Given the description of an element on the screen output the (x, y) to click on. 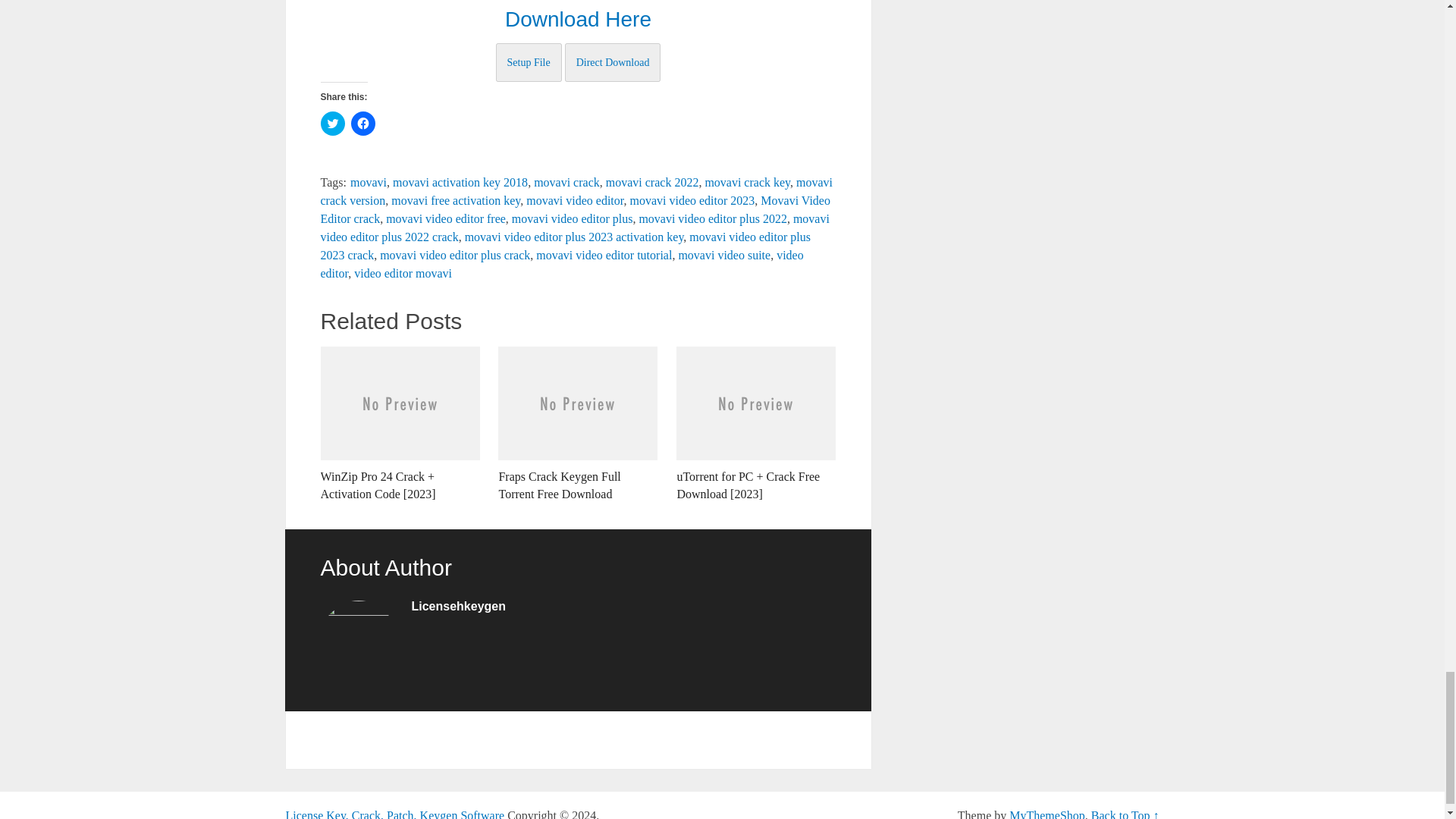
Click to share on Facebook (362, 123)
Setup File (529, 62)
Fraps Crack Keygen Full Torrent Free Download (577, 424)
Direct Download (612, 62)
Click to share on Twitter (331, 123)
Download Here (577, 19)
Setup File Direct Download (578, 61)
movavi (368, 182)
movavi activation key 2018 (460, 182)
